Given the description of an element on the screen output the (x, y) to click on. 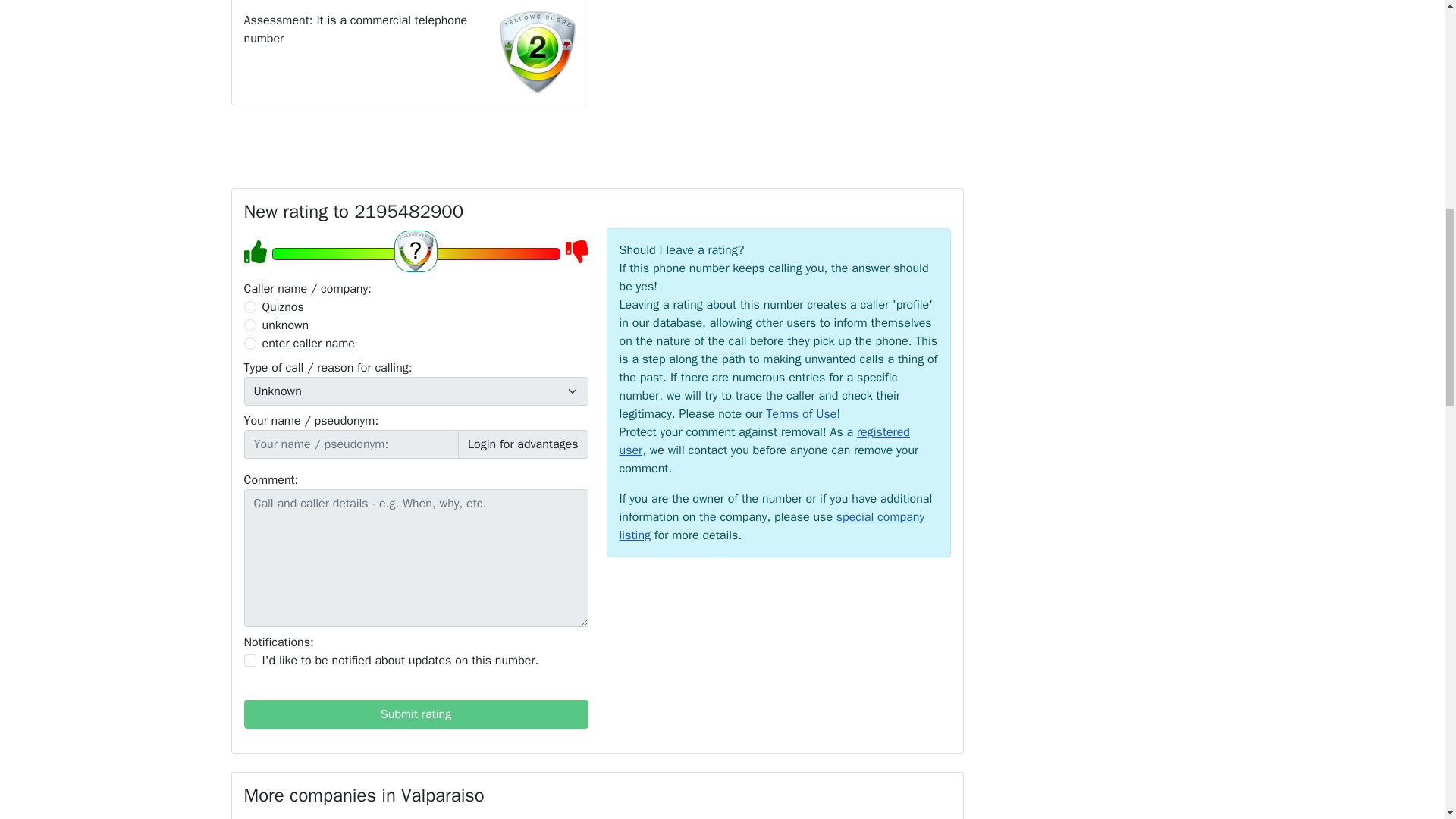
3 (250, 343)
Submit rating (416, 714)
5 (414, 253)
2 (250, 325)
registered user (763, 441)
Submit rating (416, 714)
Login for advantages (523, 443)
special company listing (771, 525)
1 (250, 660)
Terms of Use (800, 413)
0 (250, 306)
